Given the description of an element on the screen output the (x, y) to click on. 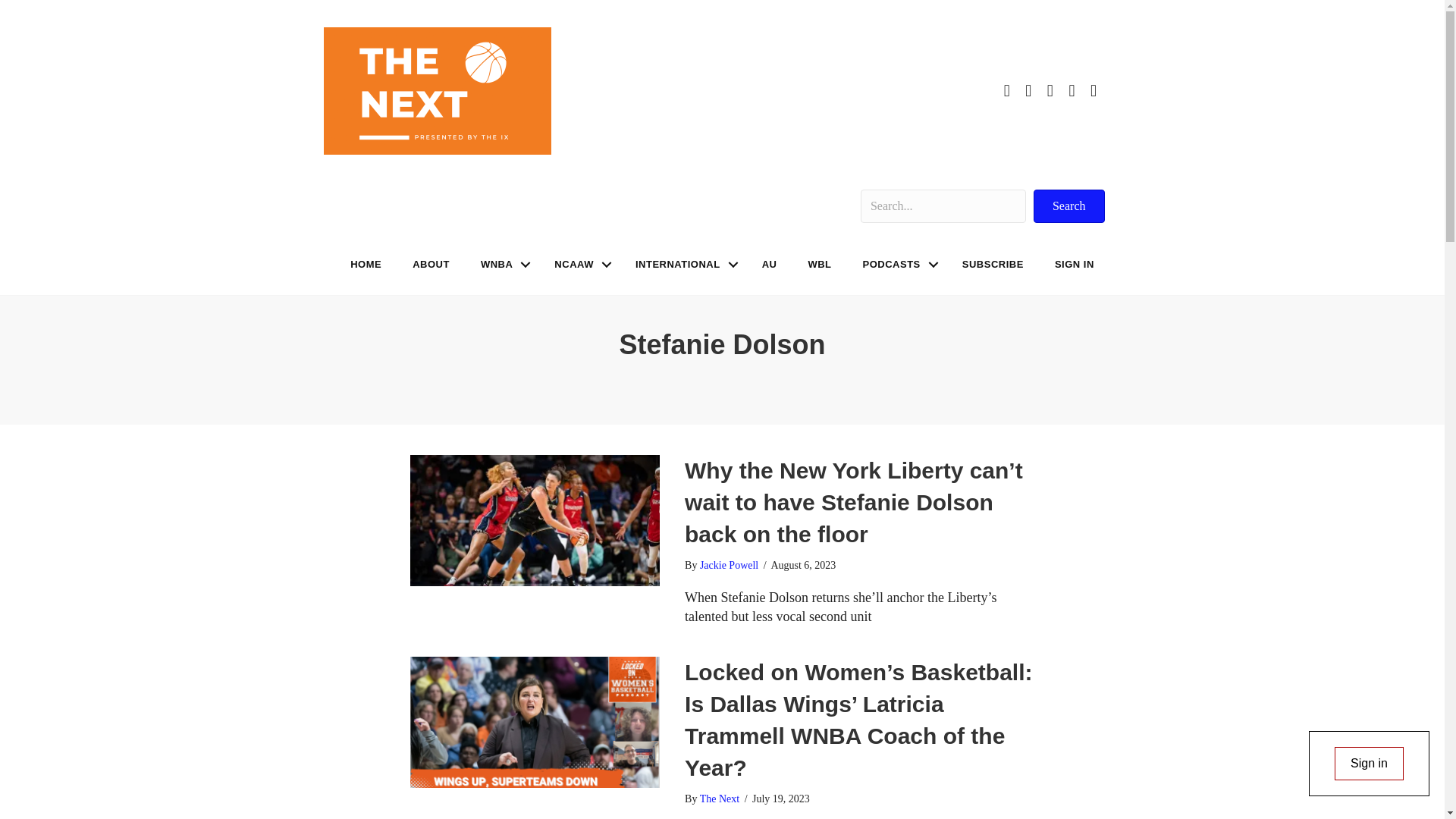
Screen Shot 2023-11-14 at 9.55.24 PM (436, 90)
